Given the description of an element on the screen output the (x, y) to click on. 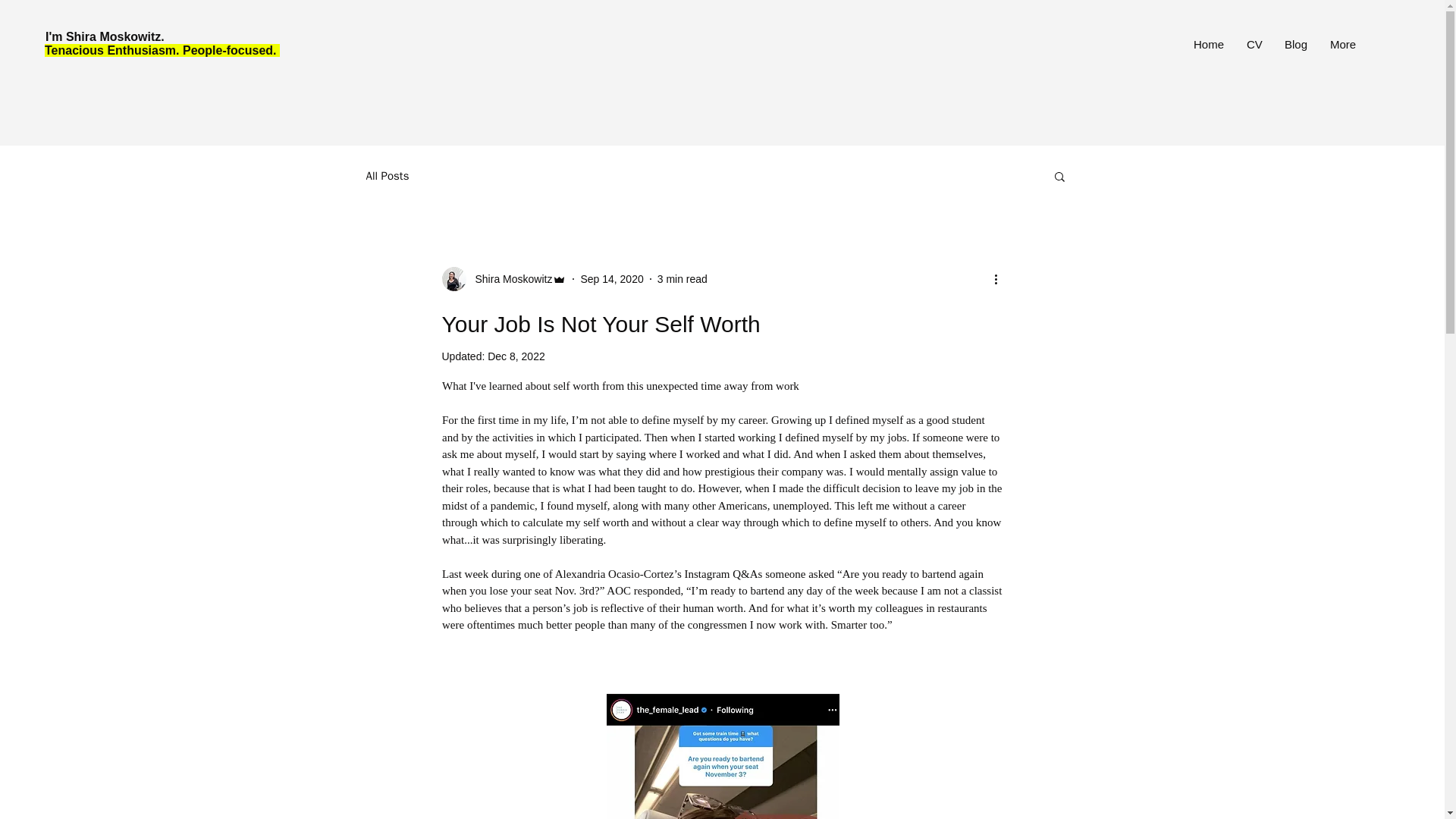
Dec 8, 2022 (515, 356)
I'm Shira Moskowitz.  (106, 36)
Home (1208, 45)
Shira Moskowitz (503, 278)
3 min read (682, 278)
Blog (1295, 45)
All Posts (387, 175)
CV (1253, 45)
Sep 14, 2020 (611, 278)
Shira Moskowitz (508, 279)
